Given the description of an element on the screen output the (x, y) to click on. 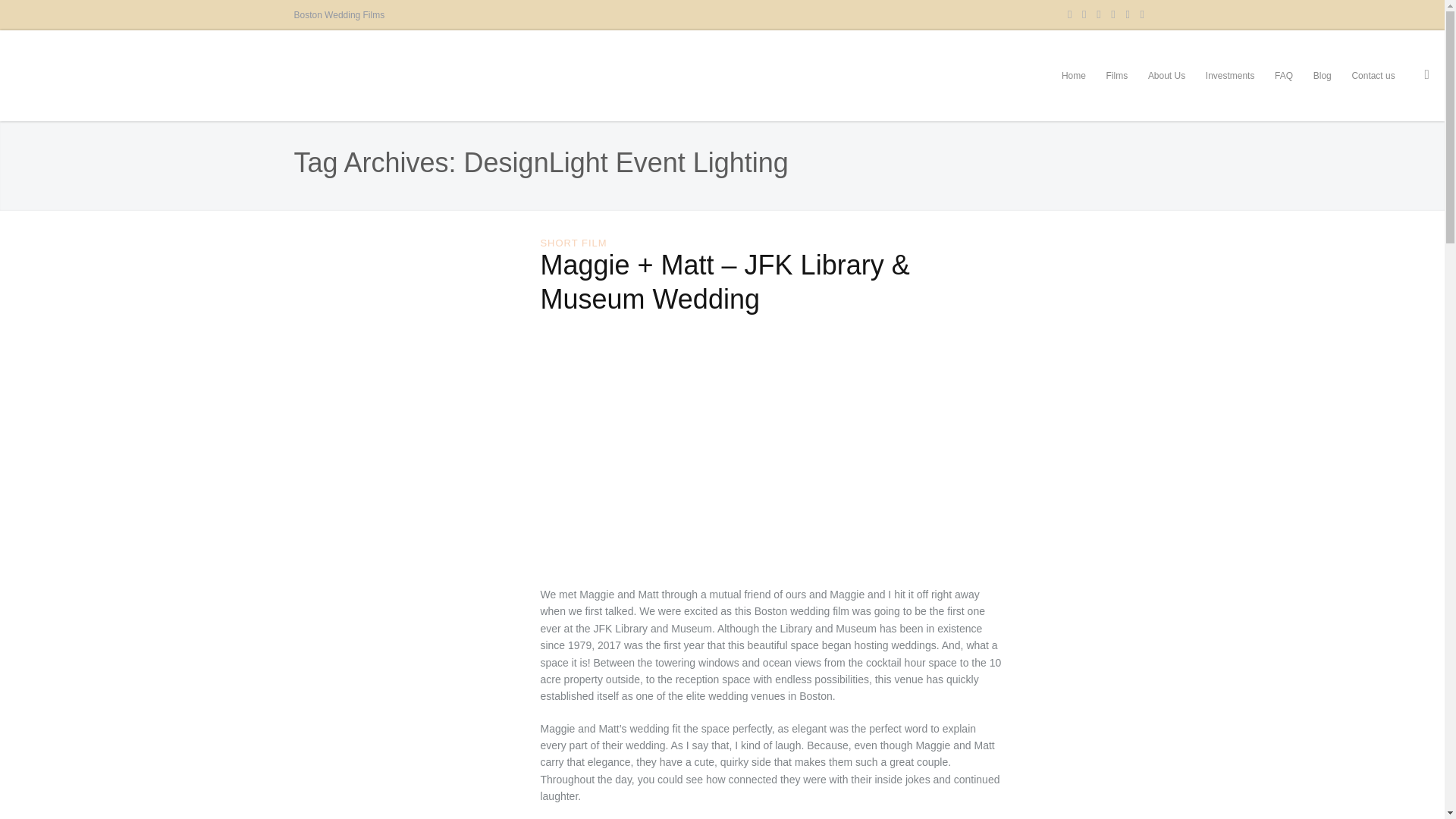
Blog (1321, 75)
FAQ (1284, 75)
Contact us (1372, 75)
SHORT FILM (573, 242)
About Us (1166, 75)
Investments (1229, 75)
About Us (1166, 75)
Films (1116, 75)
Home (1073, 75)
